Given the description of an element on the screen output the (x, y) to click on. 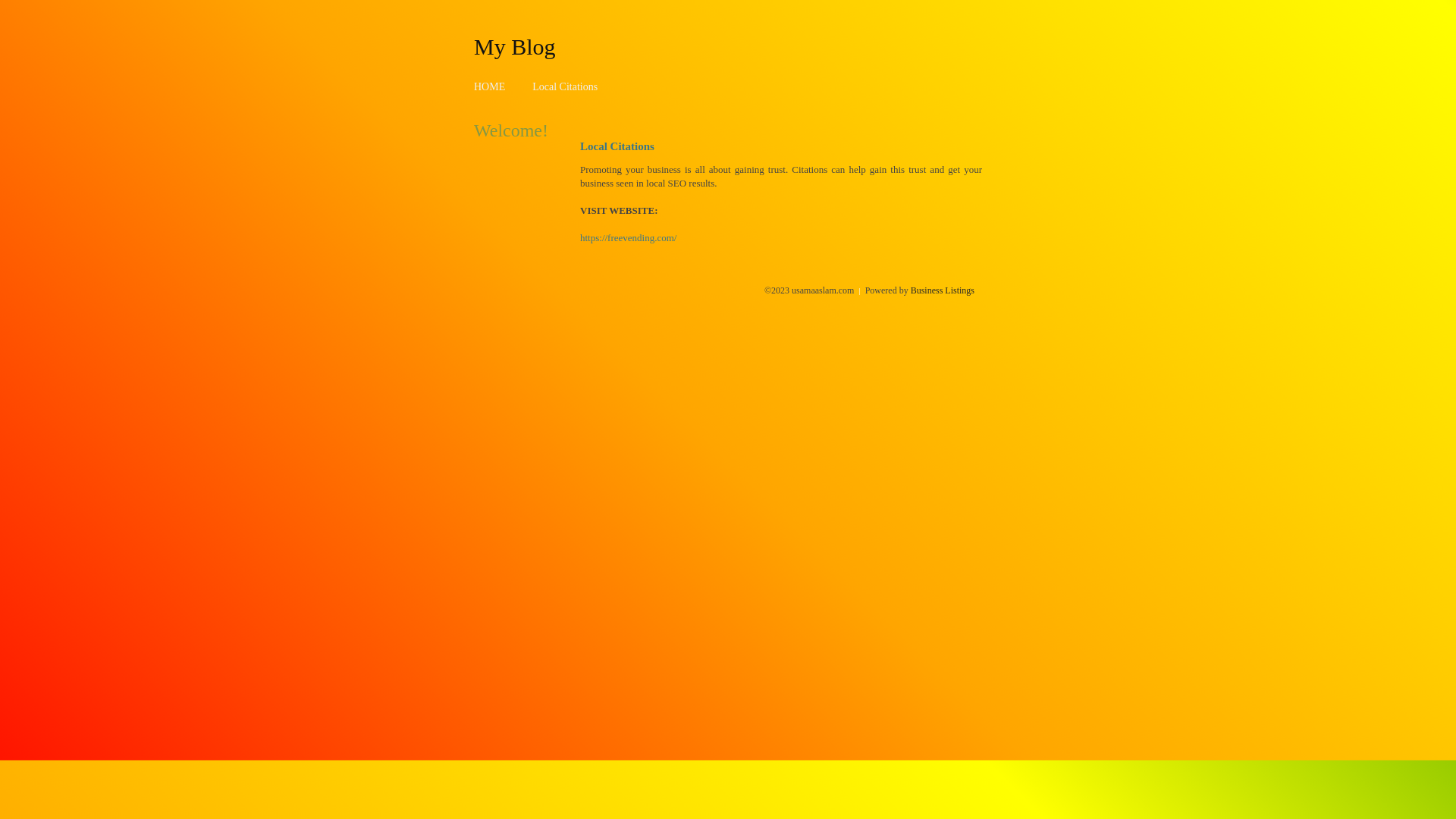
https://freevending.com/ Element type: text (628, 237)
HOME Element type: text (489, 86)
My Blog Element type: text (514, 46)
Business Listings Element type: text (942, 290)
Local Citations Element type: text (564, 86)
